Given the description of an element on the screen output the (x, y) to click on. 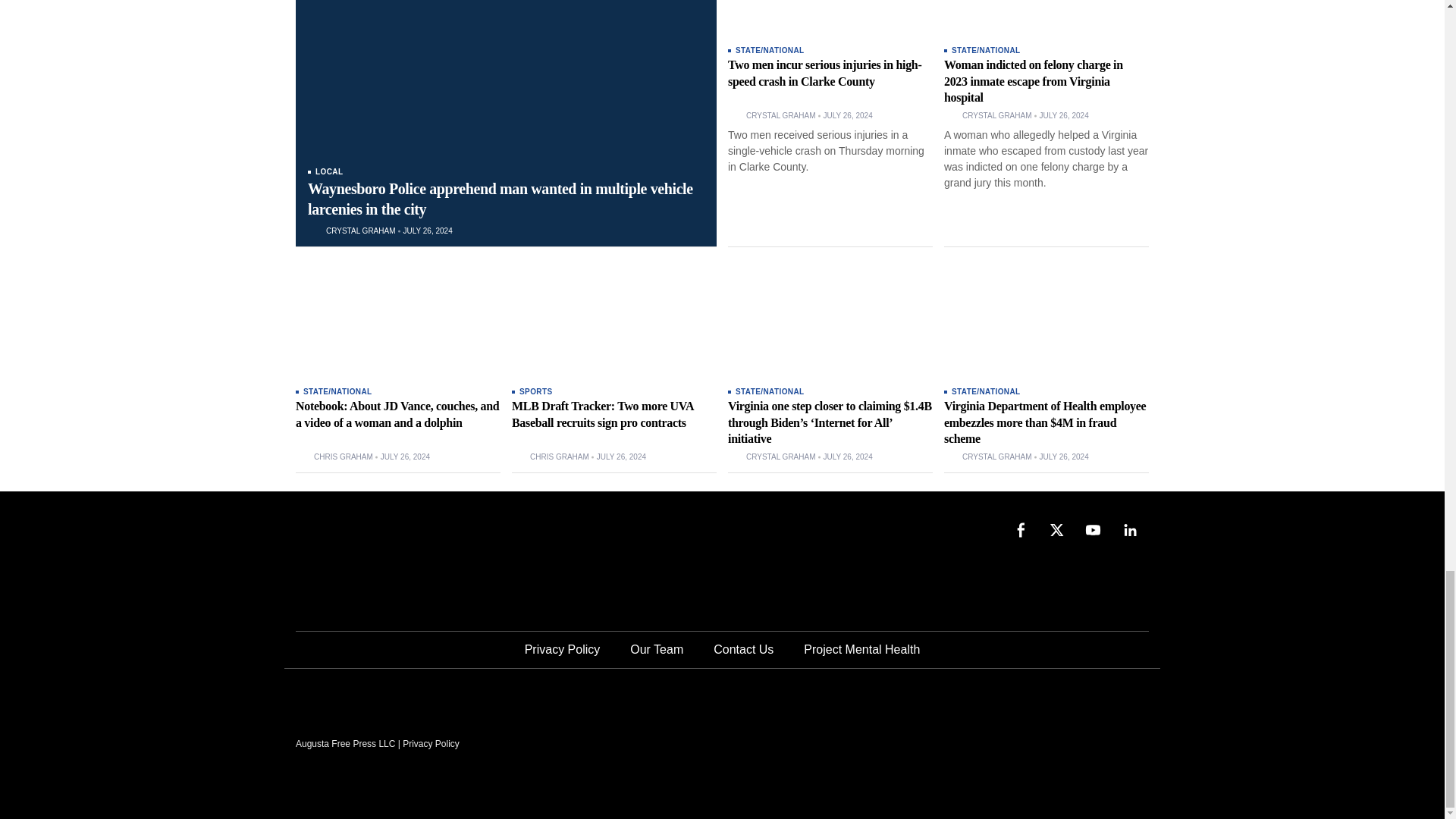
DMCA.com Protection Status (1034, 742)
